Given the description of an element on the screen output the (x, y) to click on. 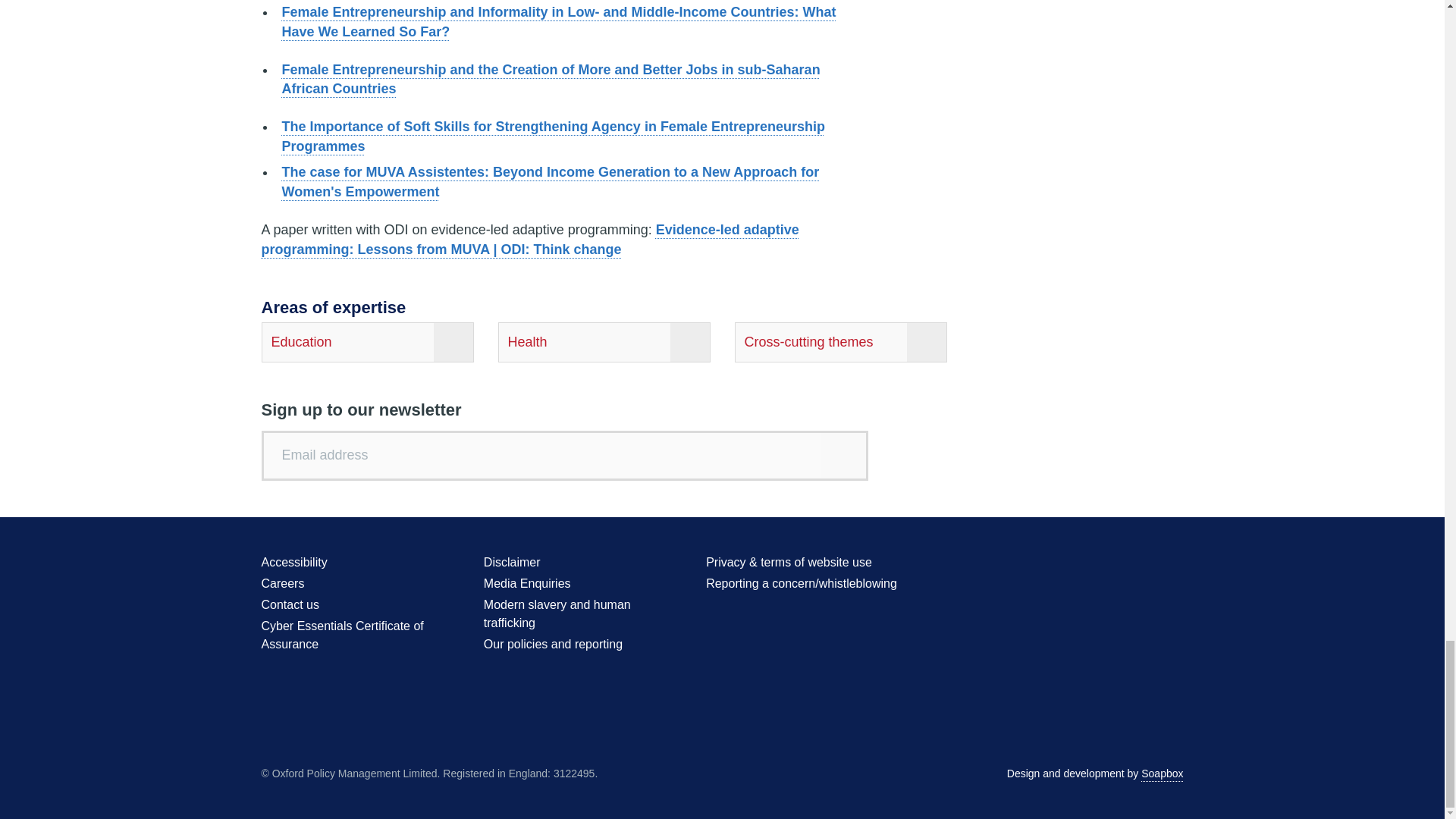
Twitter (1060, 564)
Facebook (1088, 564)
LinkedIn (1143, 564)
YouTube (1115, 564)
